Given the description of an element on the screen output the (x, y) to click on. 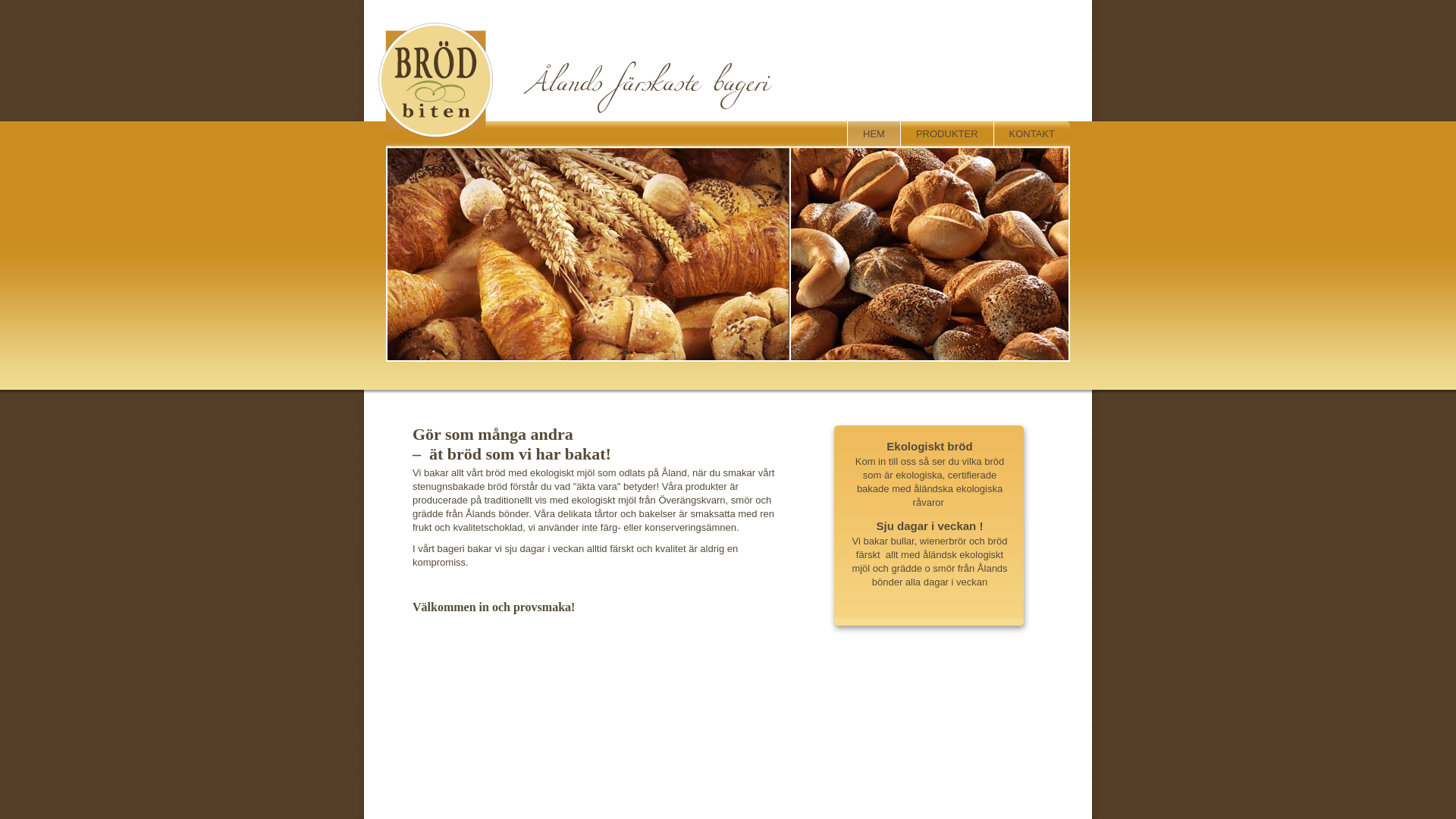
KONTAKT Element type: text (1031, 133)
PRODUKTER Element type: text (946, 133)
HEM Element type: text (873, 133)
